Given the description of an element on the screen output the (x, y) to click on. 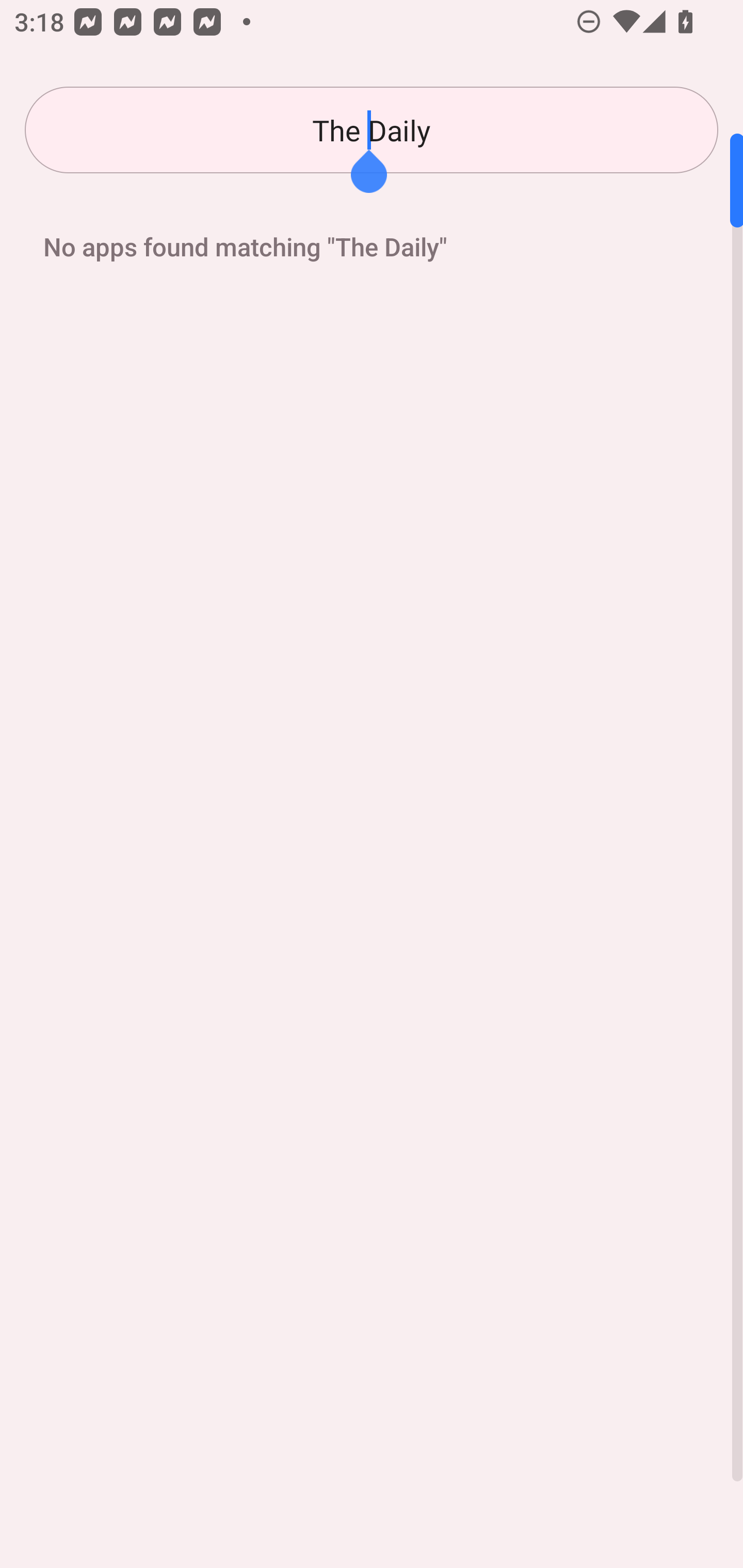
The Daily (371, 130)
